Given the description of an element on the screen output the (x, y) to click on. 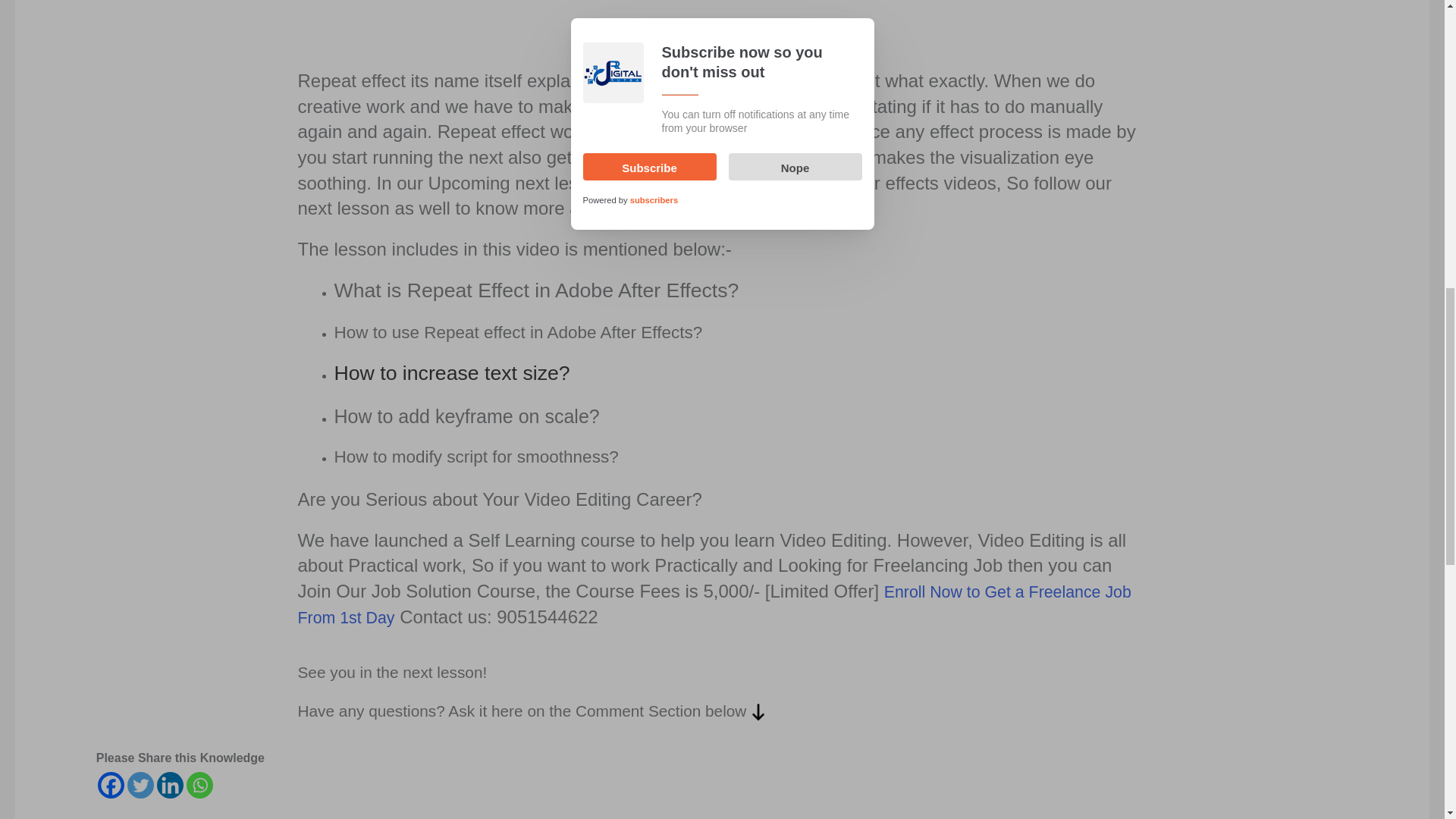
Twitter (141, 785)
Linkedin (170, 785)
Whatsapp (199, 785)
Enroll Now to Get a Freelance Job From 1st Day (714, 605)
Facebook (110, 785)
